Given the description of an element on the screen output the (x, y) to click on. 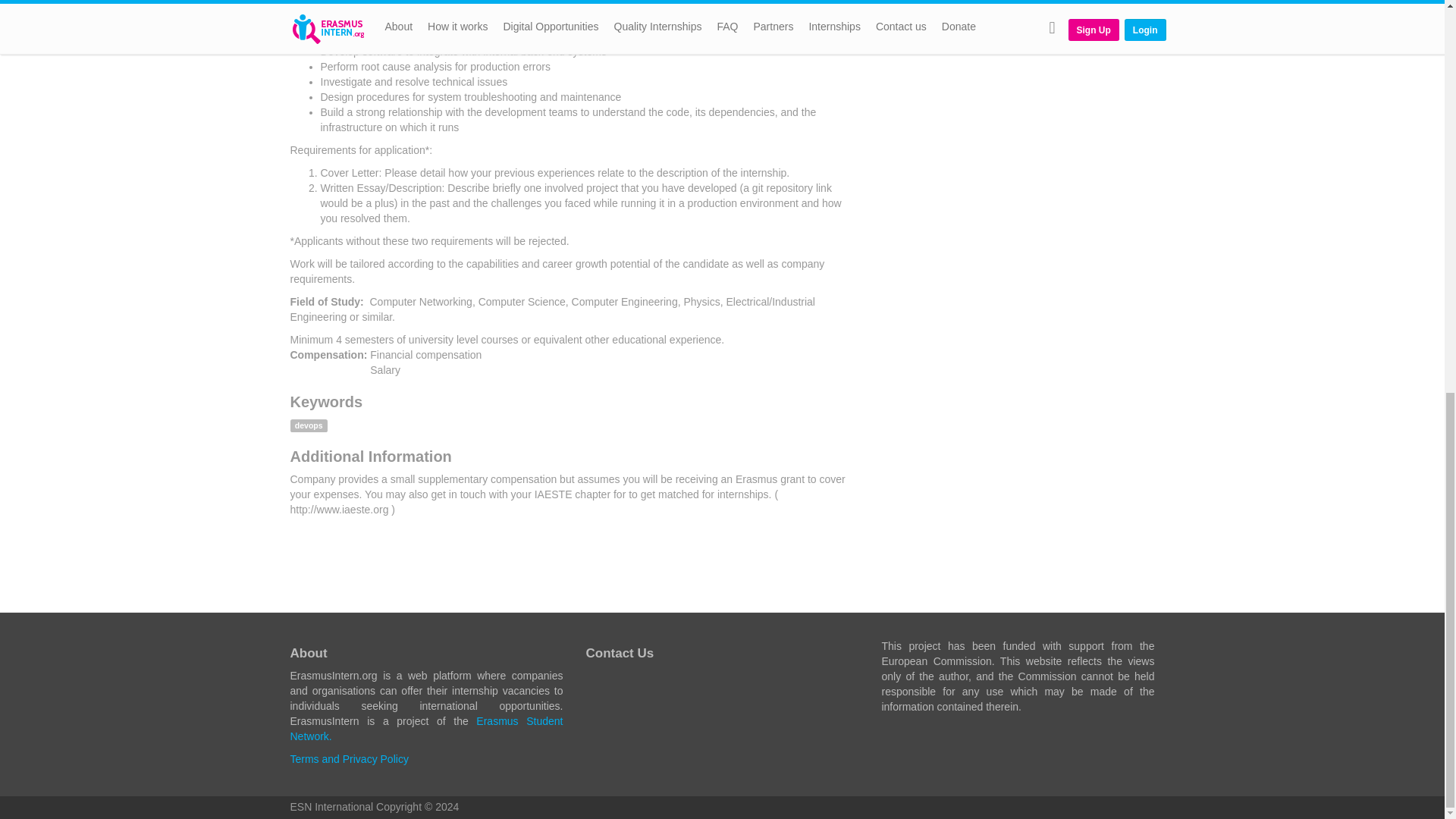
Erasmus Student Network. (425, 728)
facebook (628, 682)
twitter (658, 682)
contact us (598, 682)
Terms and Privacy Policy (348, 758)
